Given the description of an element on the screen output the (x, y) to click on. 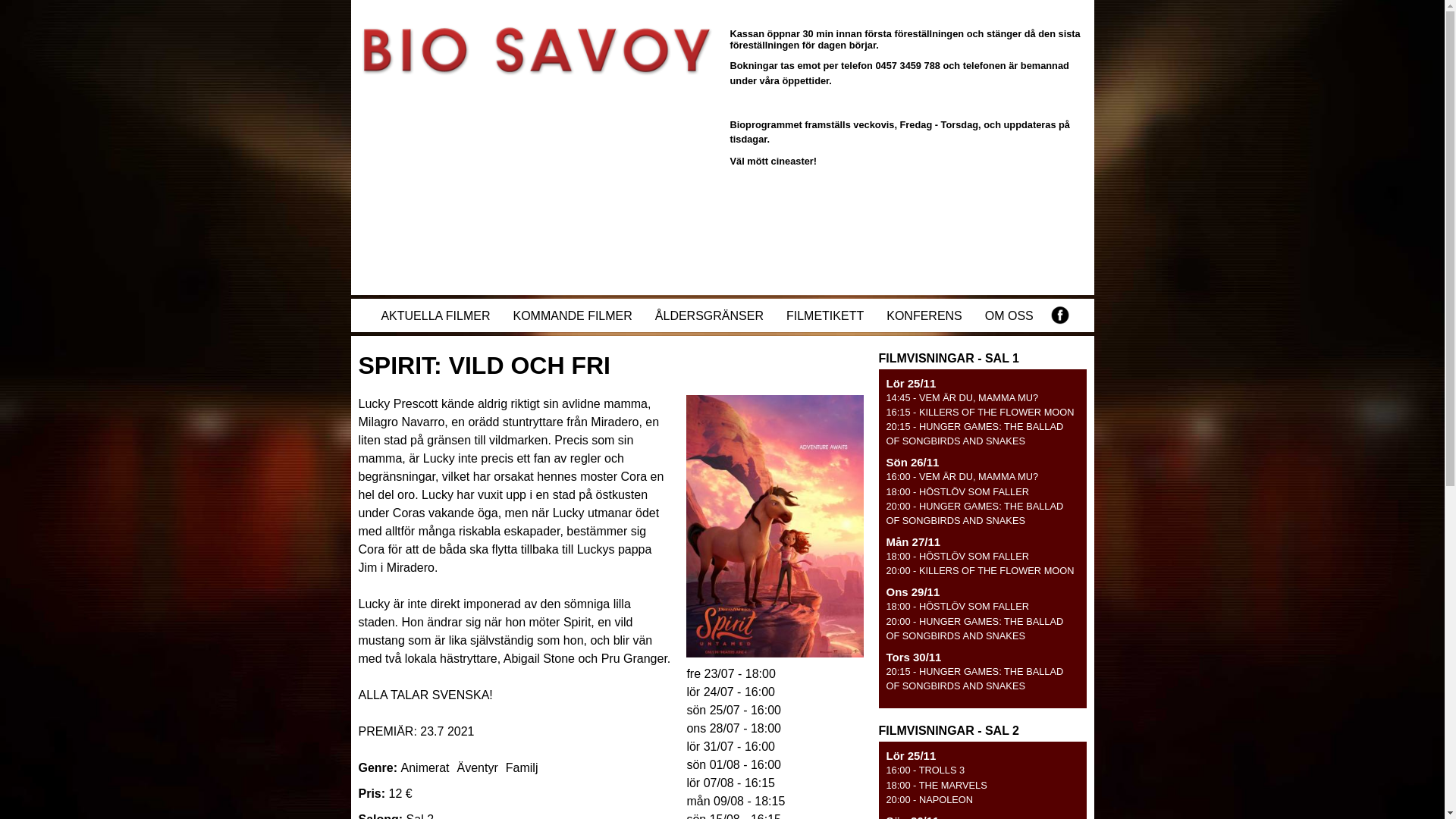
18:00 - THE MARVELS Element type: text (935, 784)
KOMMANDE FILMER Element type: text (572, 315)
20:00 - NAPOLEON Element type: text (928, 799)
16:00 - TROLLS 3 Element type: text (924, 769)
20:00 - KILLERS OF THE FLOWER MOON Element type: text (979, 570)
20:00 - HUNGER GAMES: THE BALLAD OF SONGBIRDS AND SNAKES Element type: text (974, 513)
OM OSS Element type: text (1008, 315)
20:15 - HUNGER GAMES: THE BALLAD OF SONGBIRDS AND SNAKES Element type: text (974, 678)
20:15 - HUNGER GAMES: THE BALLAD OF SONGBIRDS AND SNAKES Element type: text (974, 433)
FILMETIKETT Element type: text (825, 315)
F Element type: text (1059, 315)
16:15 - KILLERS OF THE FLOWER MOON Element type: text (979, 411)
20:00 - HUNGER GAMES: THE BALLAD OF SONGBIRDS AND SNAKES Element type: text (974, 628)
AKTUELLA FILMER Element type: text (435, 315)
KONFERENS Element type: text (924, 315)
